Given the description of an element on the screen output the (x, y) to click on. 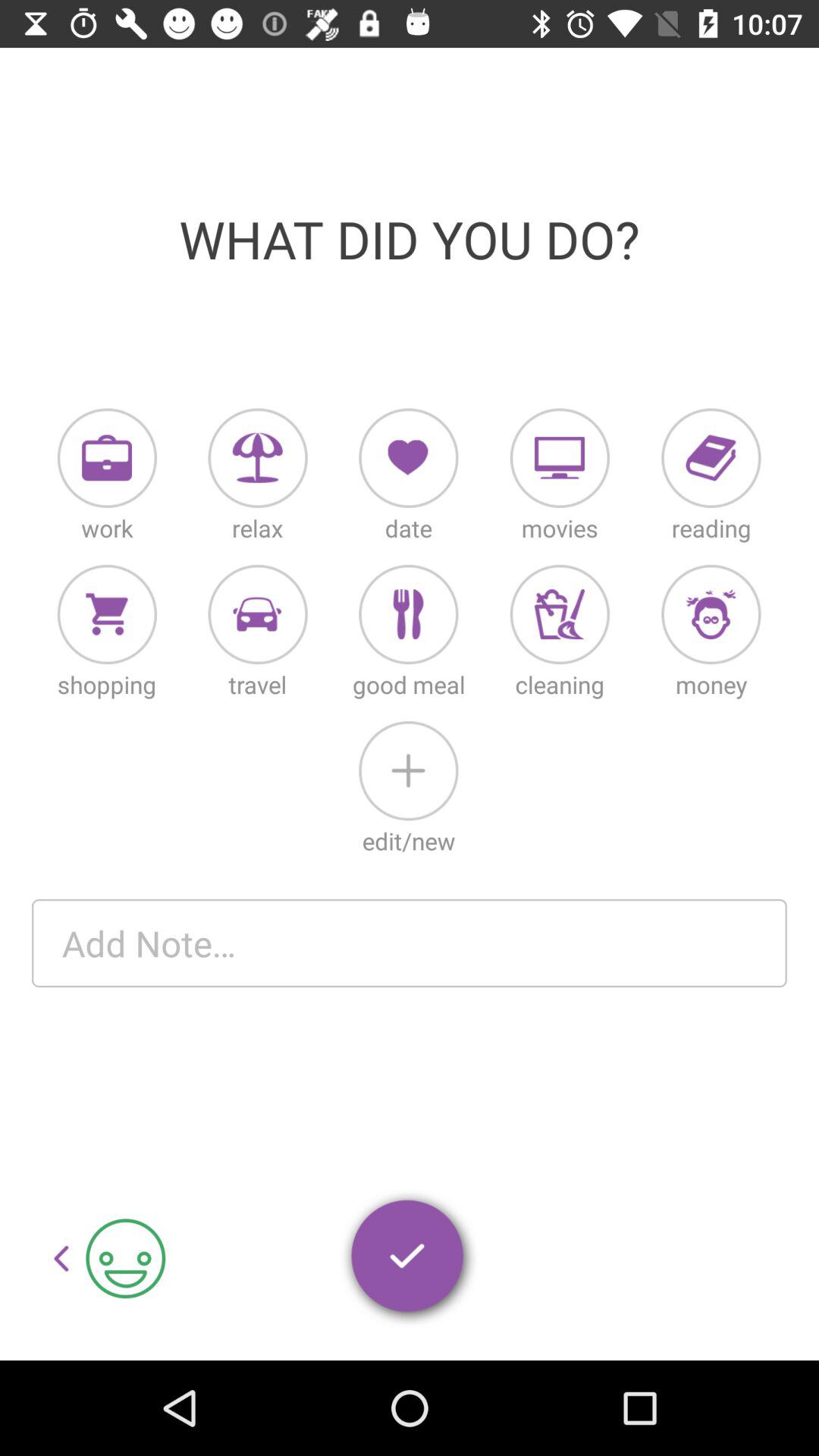
where you went (257, 614)
